Given the description of an element on the screen output the (x, y) to click on. 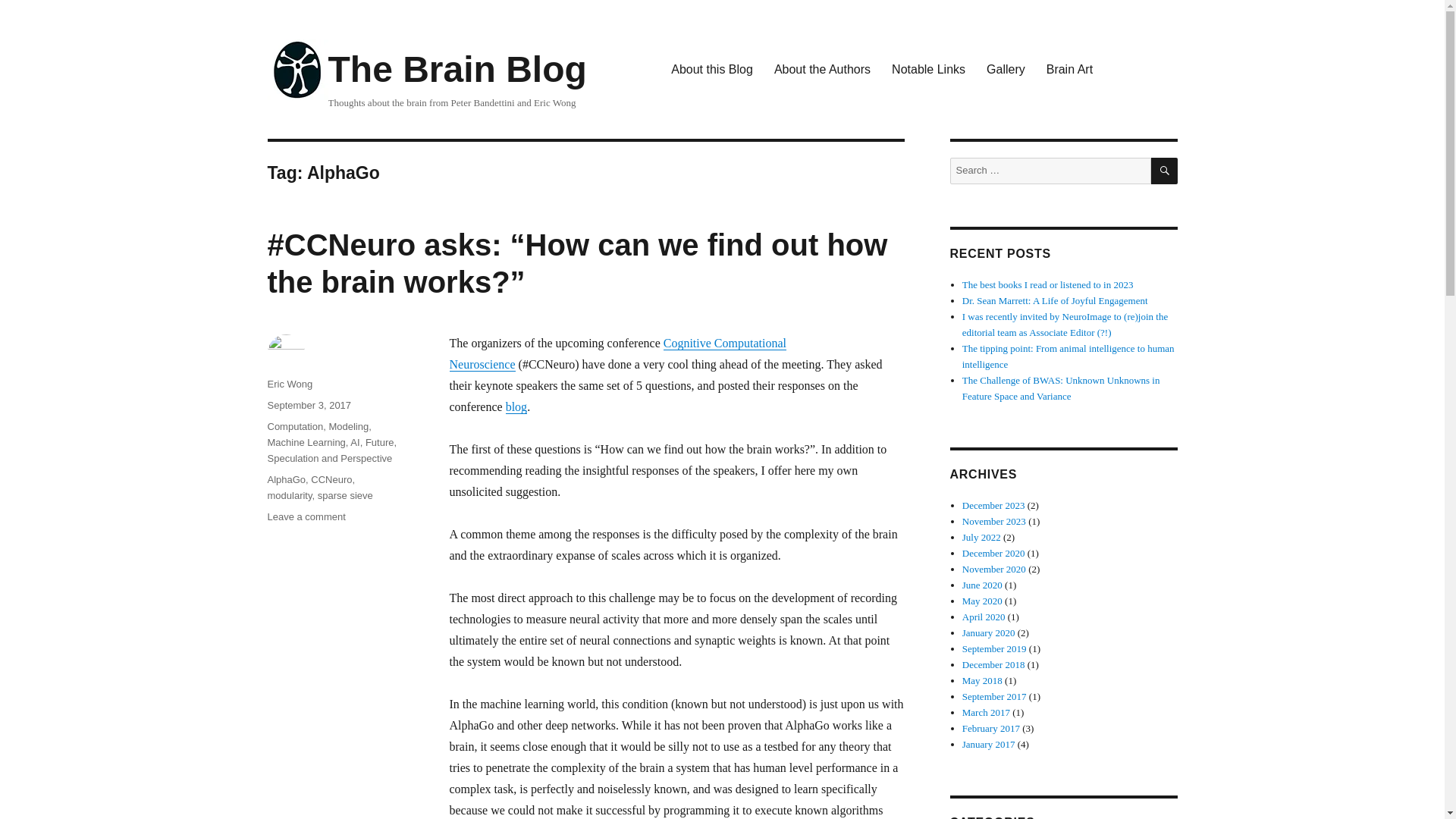
November 2023 (994, 521)
April 2020 (984, 616)
January 2020 (988, 632)
December 2018 (993, 664)
July 2022 (981, 536)
The Brain Blog (456, 69)
Computation, Modeling, Machine Learning, AI (318, 433)
September 2019 (994, 648)
About the Authors (821, 69)
May 2020 (982, 600)
June 2020 (982, 584)
CCNeuro (331, 479)
September 3, 2017 (308, 405)
modularity (288, 495)
November 2020 (994, 568)
